Given the description of an element on the screen output the (x, y) to click on. 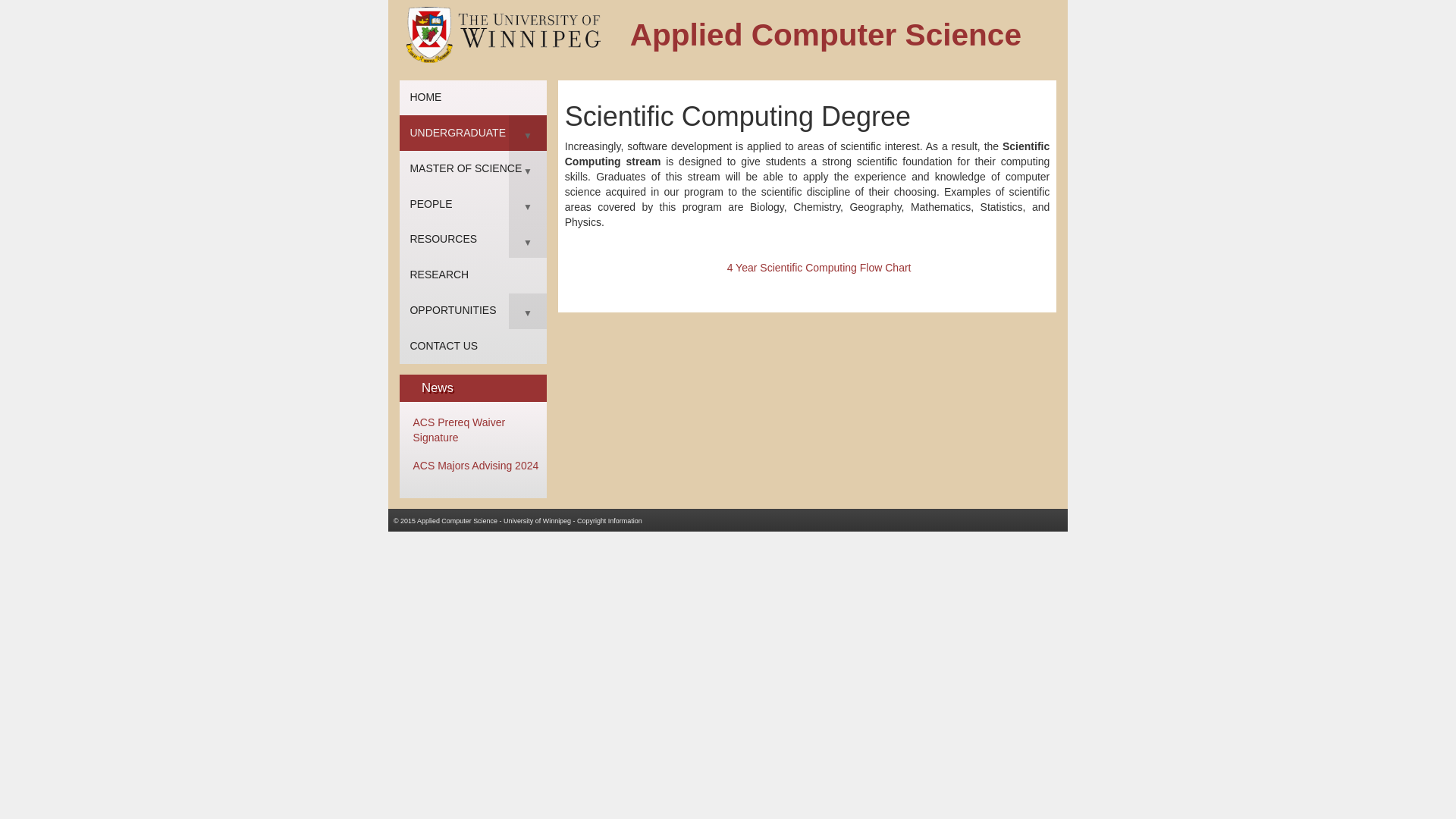
MASTER OF SCIENCE (472, 168)
RESOURCES (472, 239)
UNDERGRADUATE (472, 132)
PEOPLE (472, 203)
HOME (472, 98)
